Given the description of an element on the screen output the (x, y) to click on. 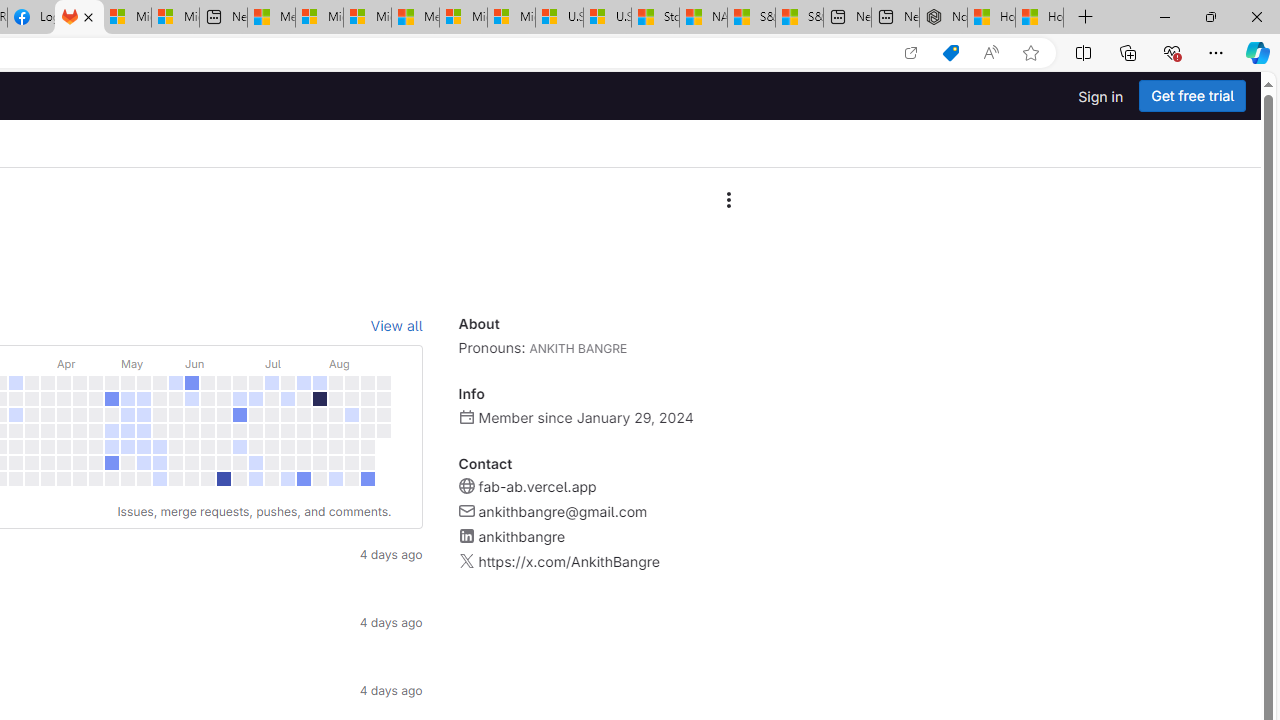
Sign in (1100, 95)
